Given the description of an element on the screen output the (x, y) to click on. 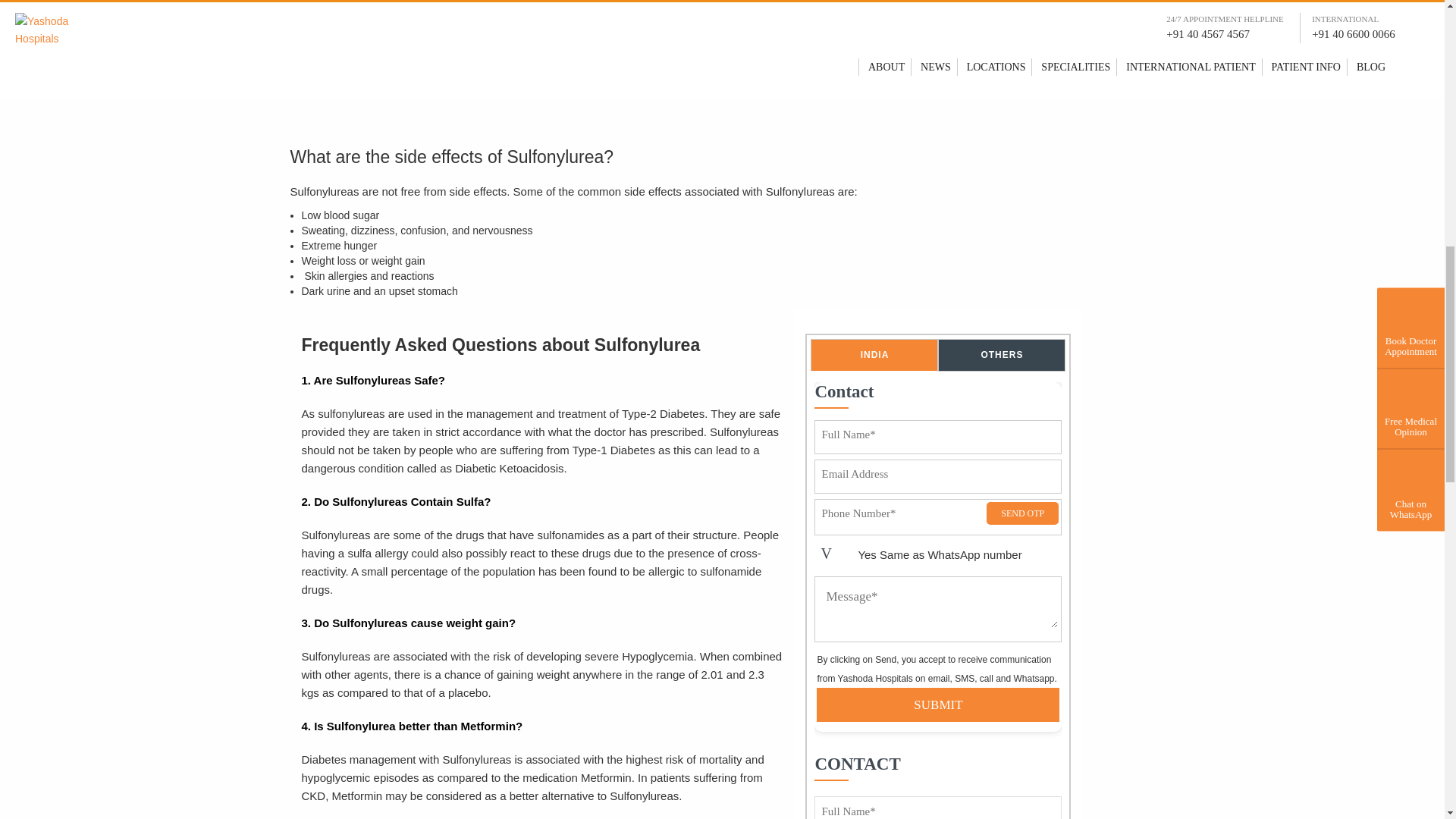
Yes (835, 557)
Send OTP (1022, 513)
